Given the description of an element on the screen output the (x, y) to click on. 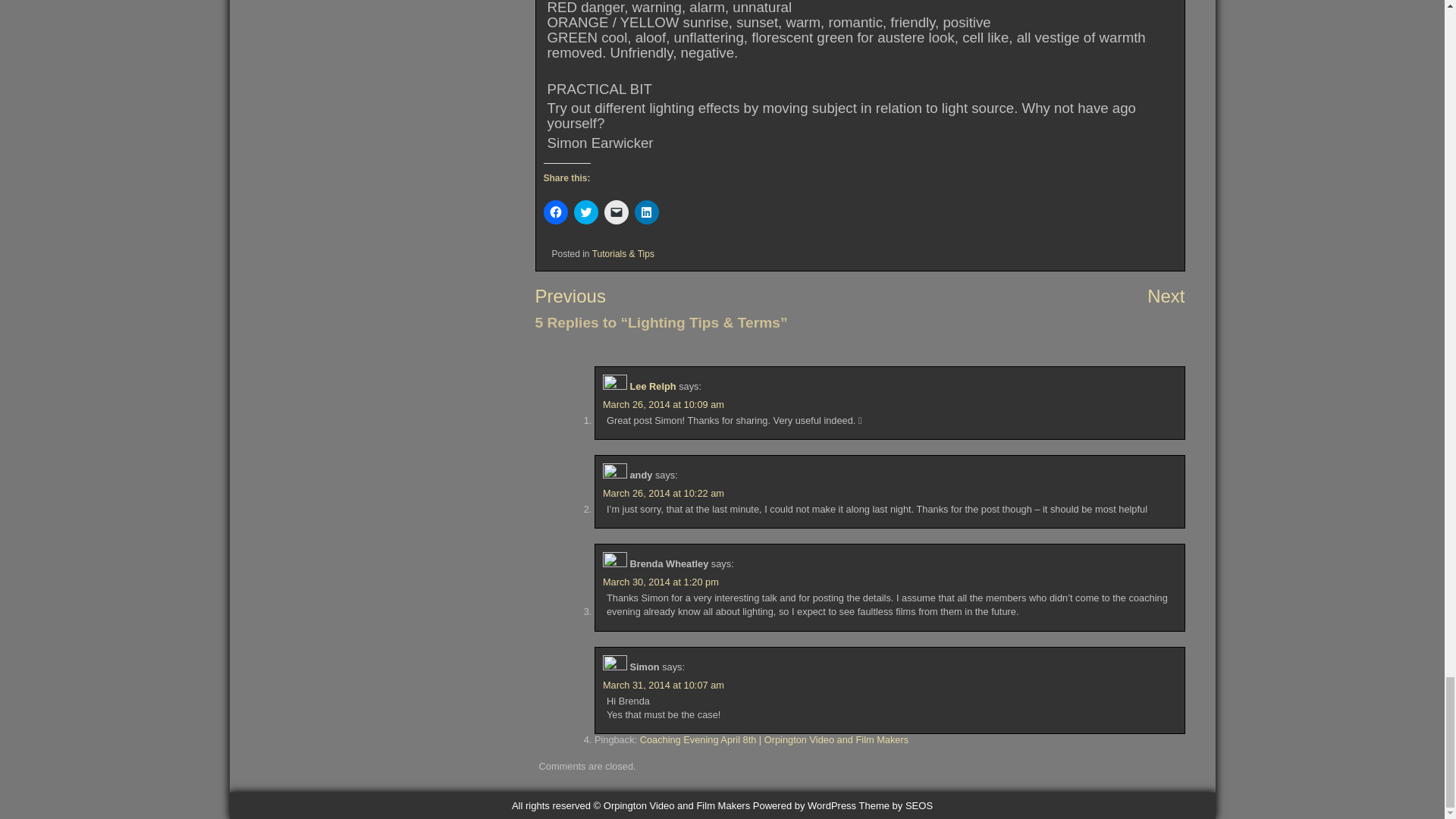
Click to email a link to a friend (615, 211)
Click to share on Twitter (584, 211)
Click to share on Facebook (555, 211)
Click to share on LinkedIn (645, 211)
